Given the description of an element on the screen output the (x, y) to click on. 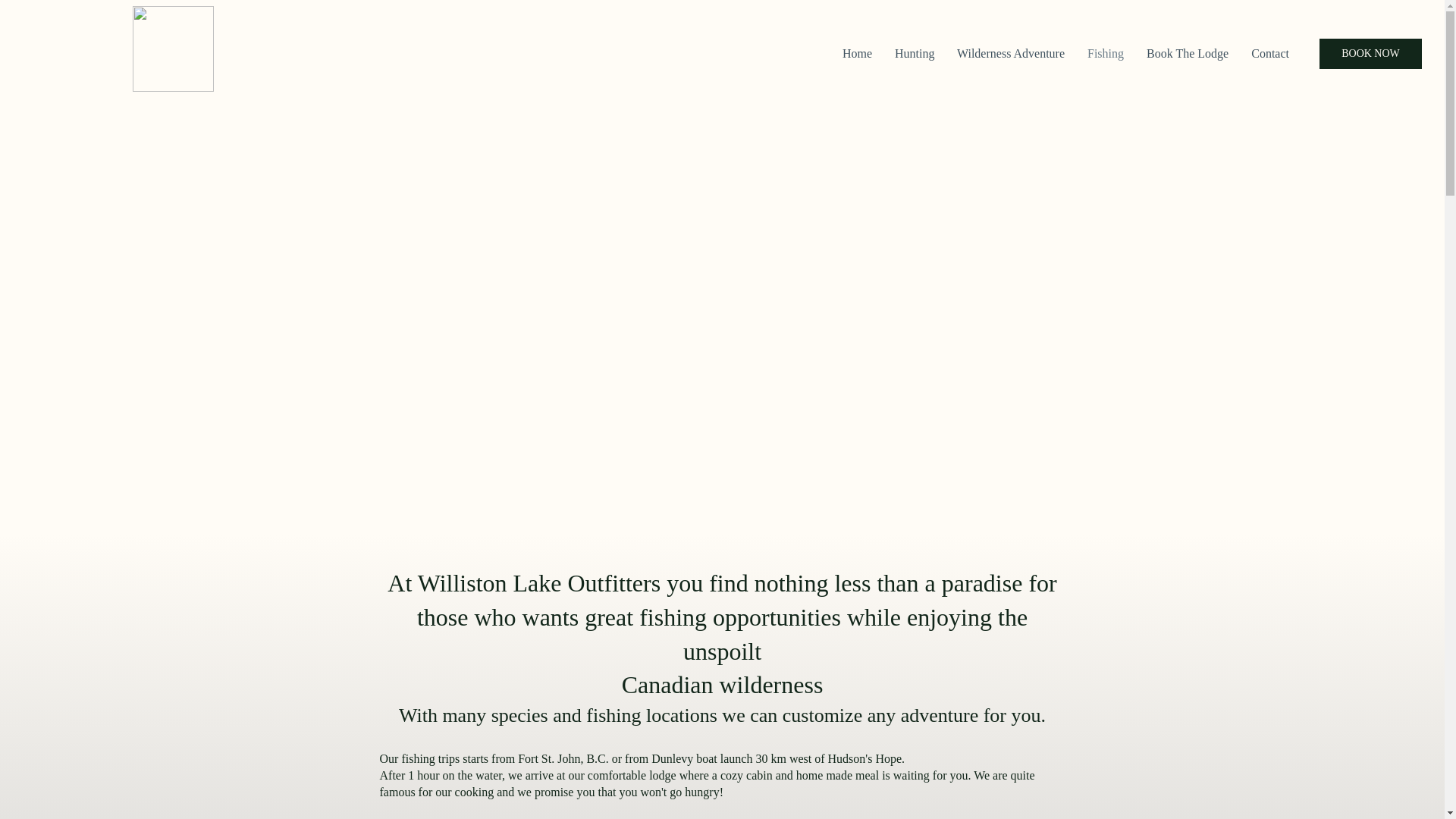
Book The Lodge (1187, 53)
BOOK NOW (1370, 53)
Wilderness Adventure (1009, 53)
